Given the description of an element on the screen output the (x, y) to click on. 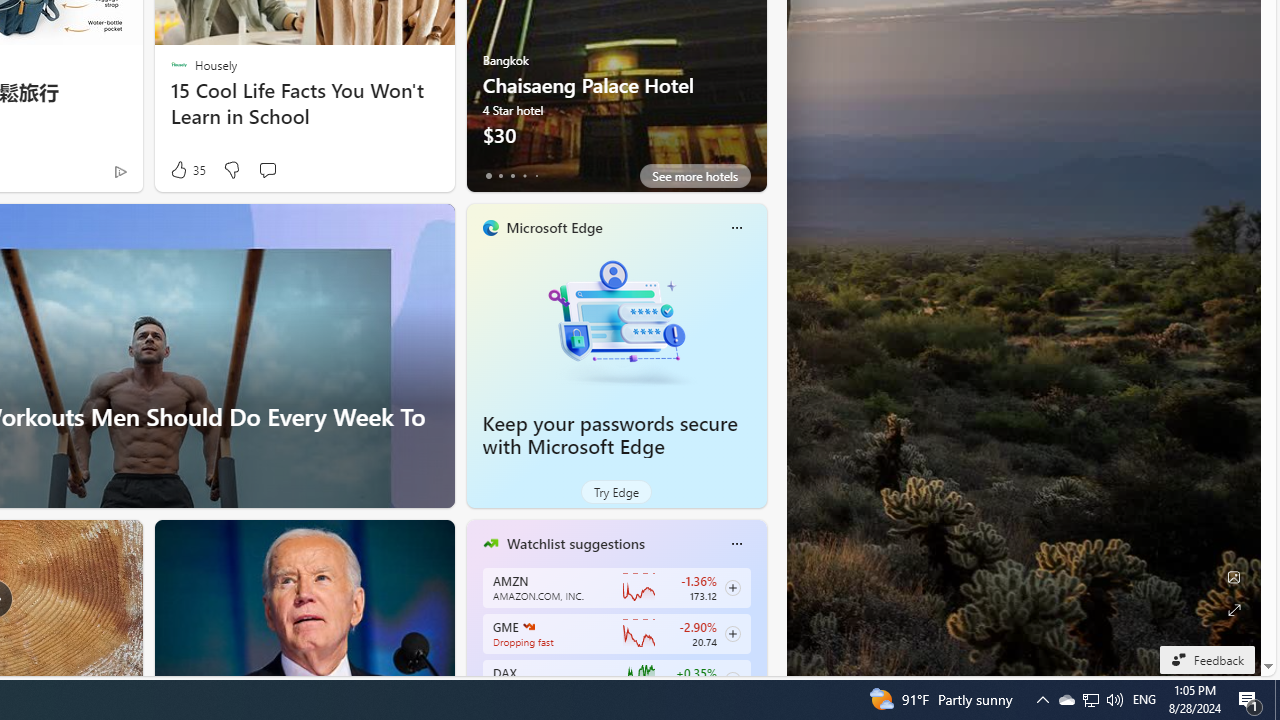
Ad Choice (119, 171)
tab-2 (511, 175)
Start the conversation (267, 170)
Watchlist suggestions (575, 543)
Edit Background (1233, 577)
Class: follow-button  m (732, 679)
Class: icon-img (736, 543)
Try Edge (616, 491)
Microsoft Edge (553, 227)
tab-1 (500, 175)
More options (736, 543)
Feedback (1206, 659)
See more hotels (694, 175)
